Given the description of an element on the screen output the (x, y) to click on. 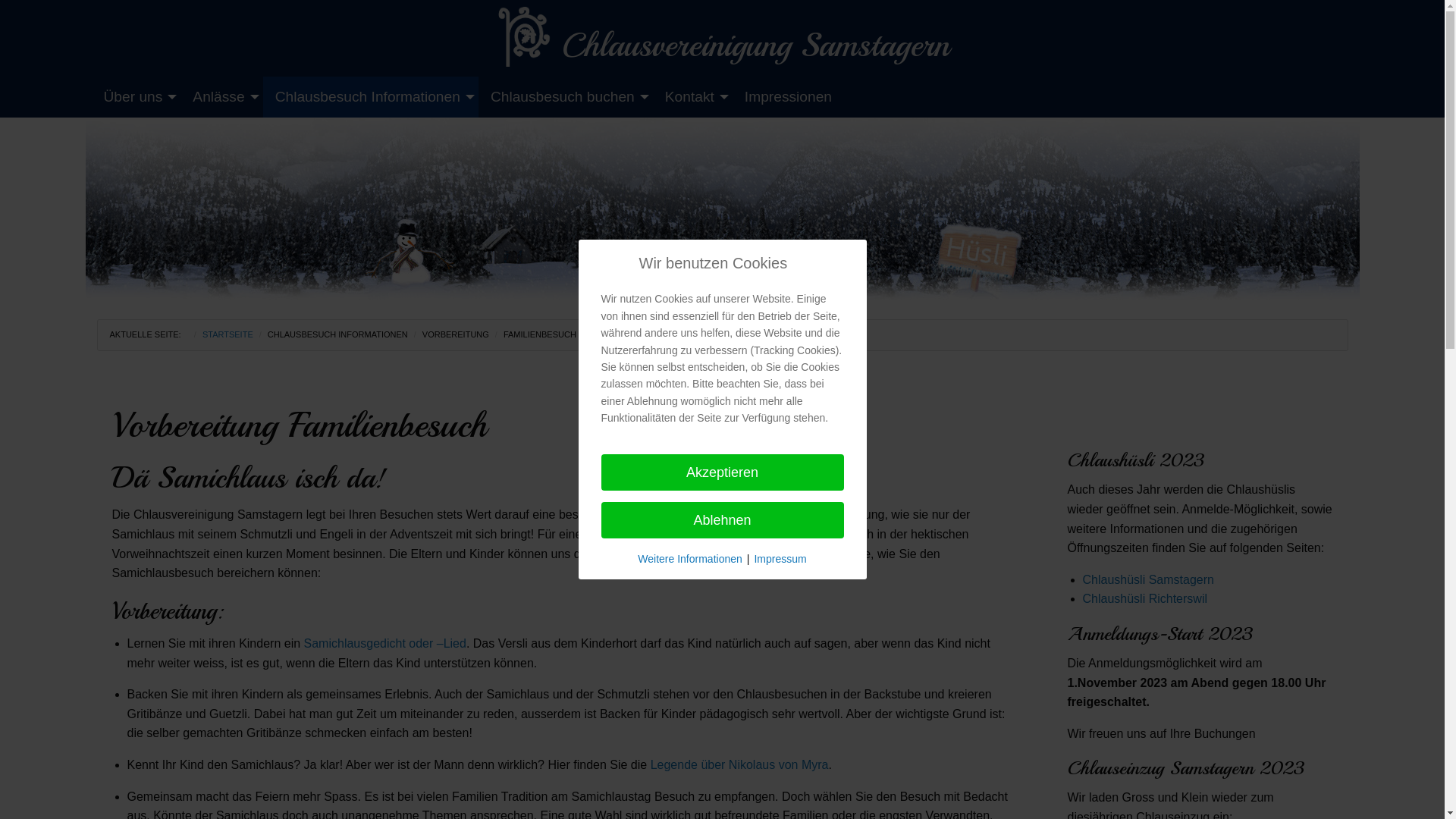
Weitere Informationen Element type: text (689, 558)
Chlausbesuch Informationen Element type: text (370, 96)
Kontakt Element type: text (692, 96)
STARTSEITE Element type: text (227, 333)
Impressionen Element type: text (788, 96)
Akzeptieren Element type: text (721, 472)
Chlausvereinigung Samstagern Element type: text (722, 38)
Chlausbesuch buchen Element type: text (565, 96)
Ablehnen Element type: text (721, 520)
Impressum Element type: text (779, 558)
